Given the description of an element on the screen output the (x, y) to click on. 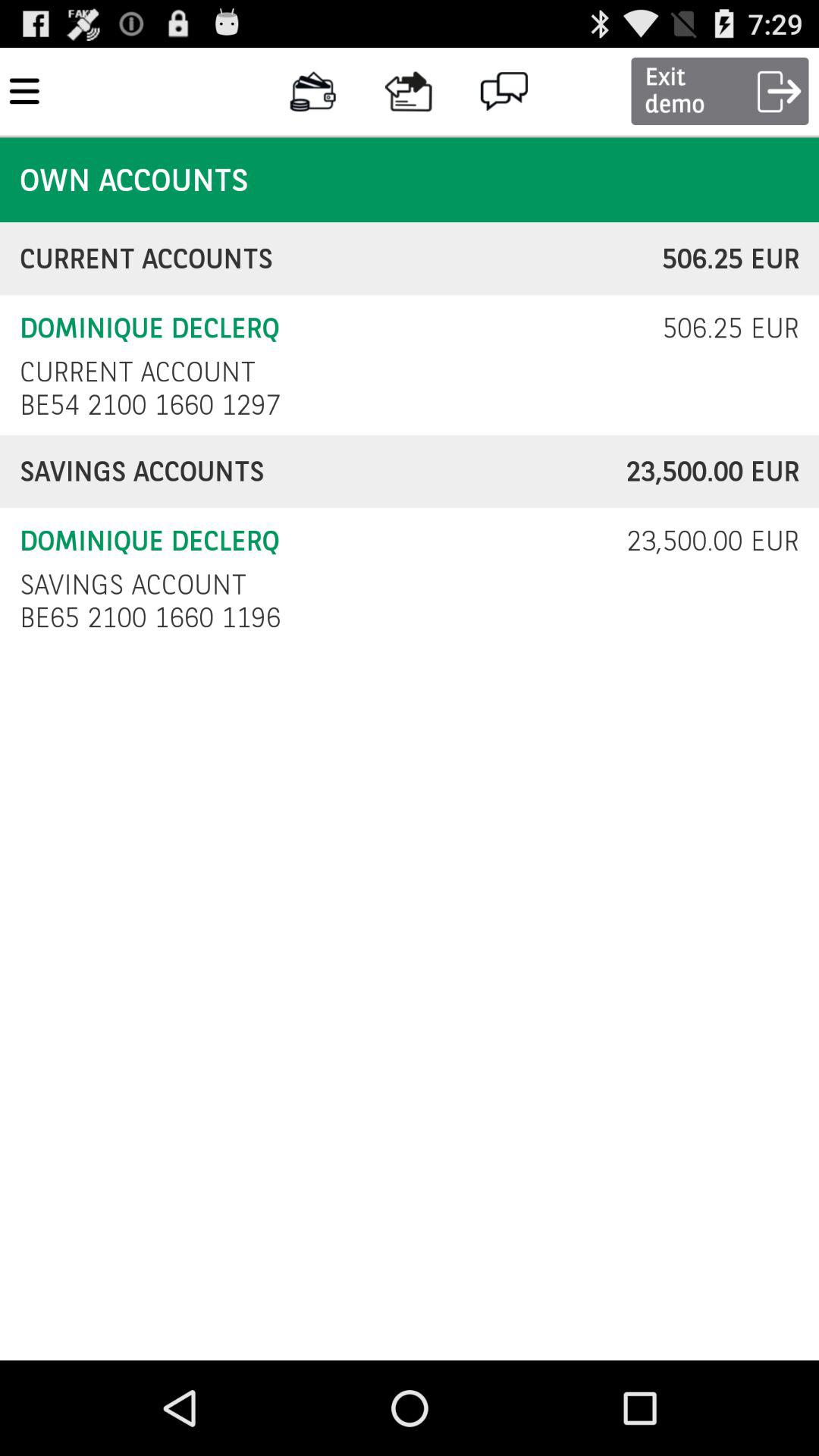
select the checkbox next to the 506.25 eur (137, 371)
